Given the description of an element on the screen output the (x, y) to click on. 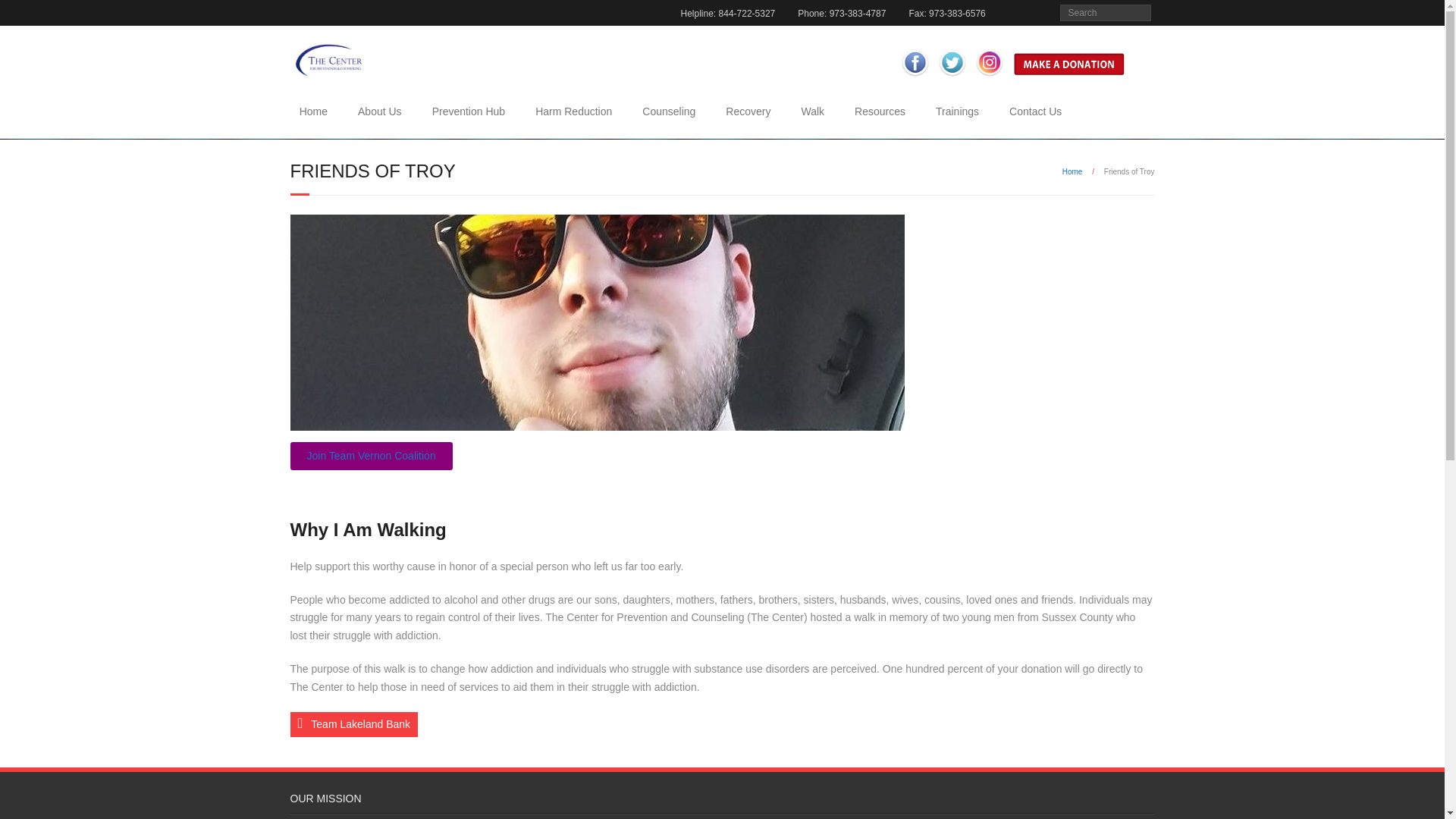
Visit Us On Twitter (951, 77)
Recovery (748, 111)
Search (25, 13)
Helpline: 844-722-5327 (727, 12)
Fax: 973-383-6576 (945, 12)
Phone: 973-383-4787 (841, 12)
Prevention Hub (468, 111)
Resources (880, 111)
Visit Us On Facebook (914, 77)
Home (312, 111)
Trainings (957, 111)
Harm Reduction (573, 111)
Visit Us On Instagram (989, 77)
About Us (379, 111)
Walk (813, 111)
